Given the description of an element on the screen output the (x, y) to click on. 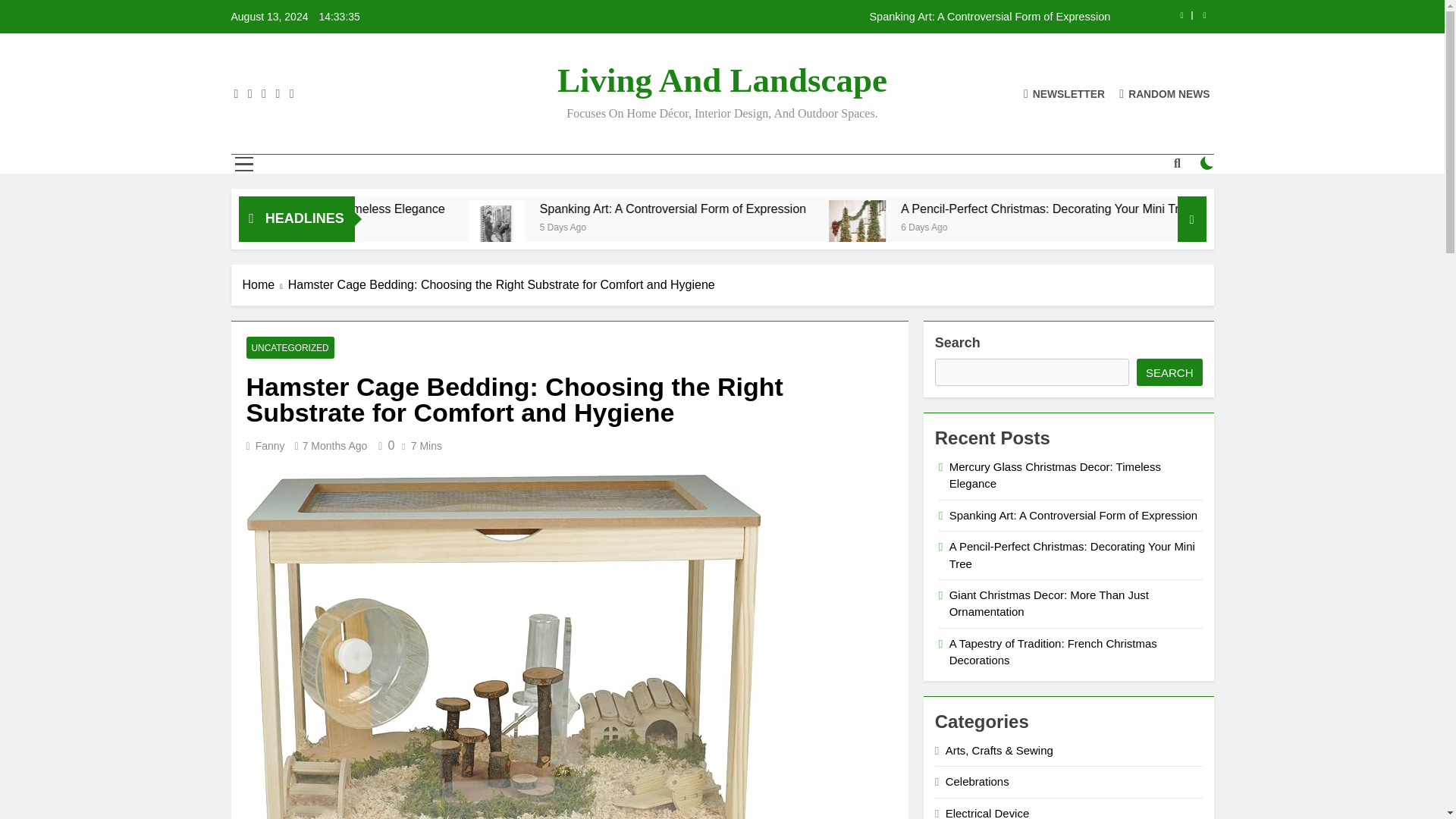
A Pencil-Perfect Christmas: Decorating Your Mini Tree (1009, 228)
6 Days Ago (1129, 226)
Spanking Art: A Controversial Form of Expression (887, 208)
24 Hours Ago (410, 226)
Living And Landscape (721, 80)
RANDOM NEWS (1164, 92)
Mercury Glass Christmas Decor: Timeless Elegance (467, 208)
Spanking Art: A Controversial Form of Expression (817, 16)
5 Days Ago (774, 226)
on (1206, 162)
